Given the description of an element on the screen output the (x, y) to click on. 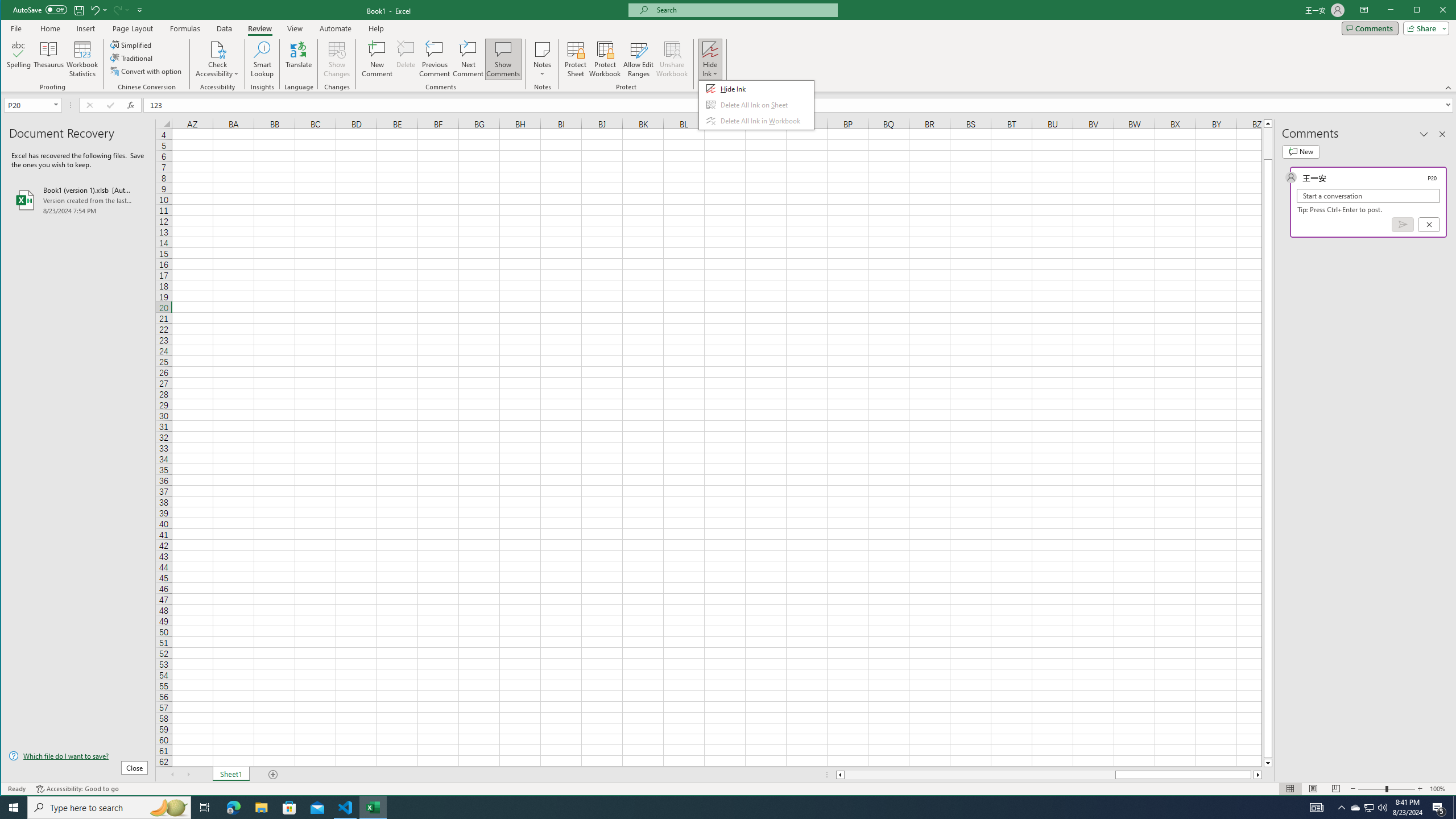
Traditional (132, 57)
Delete (405, 59)
AutomationID: 4105 (1316, 807)
Unshare Workbook (671, 59)
Page up (1267, 142)
